Given the description of an element on the screen output the (x, y) to click on. 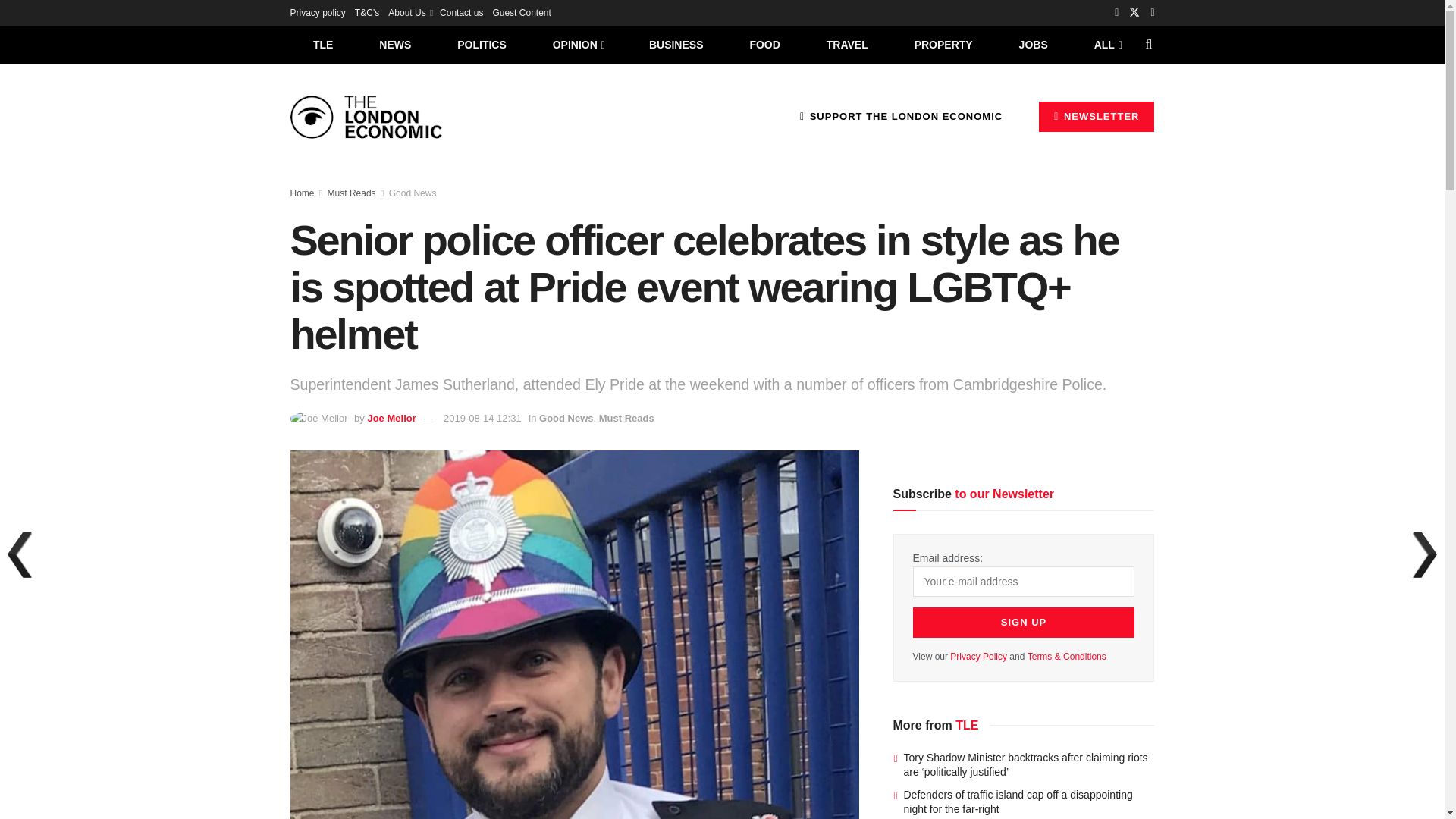
BUSINESS (676, 44)
FOOD (764, 44)
About Us (409, 12)
SUPPORT THE LONDON ECONOMIC (900, 116)
Sign up (1023, 622)
POLITICS (481, 44)
JOBS (1032, 44)
Privacy policy (317, 12)
ALL (1106, 44)
Guest Content (521, 12)
